Given the description of an element on the screen output the (x, y) to click on. 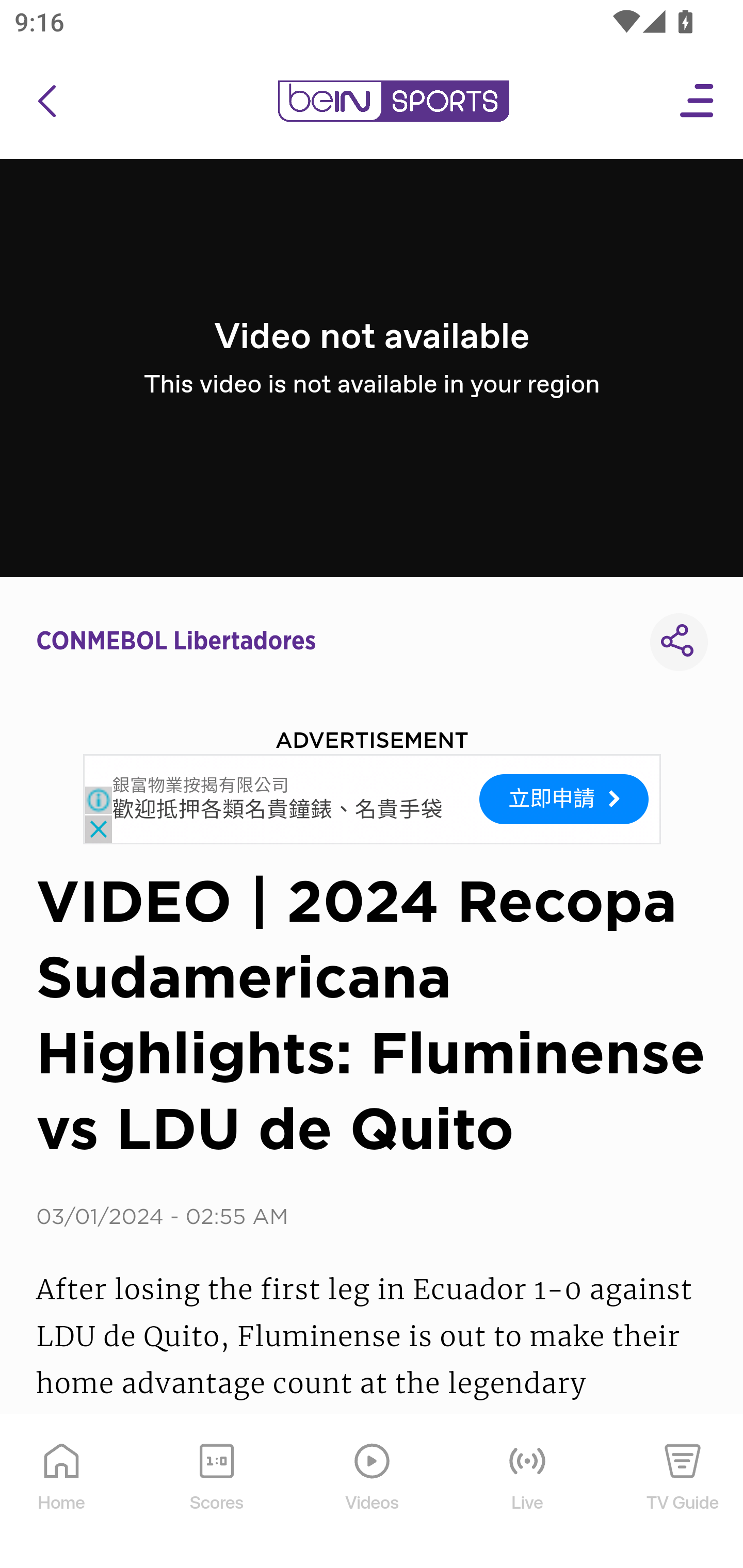
en-us?platform=mobile_android bein logo (392, 101)
icon back (46, 101)
Open Menu Icon (697, 101)
立即申請 (564, 798)
銀富物業按揭有限公司 (201, 786)
歡迎抵押各類名貴鐘錶、名貴手袋 (278, 810)
Home Home Icon Home (61, 1491)
Scores Scores Icon Scores (216, 1491)
Videos Videos Icon Videos (372, 1491)
TV Guide TV Guide Icon TV Guide (682, 1491)
